Given the description of an element on the screen output the (x, y) to click on. 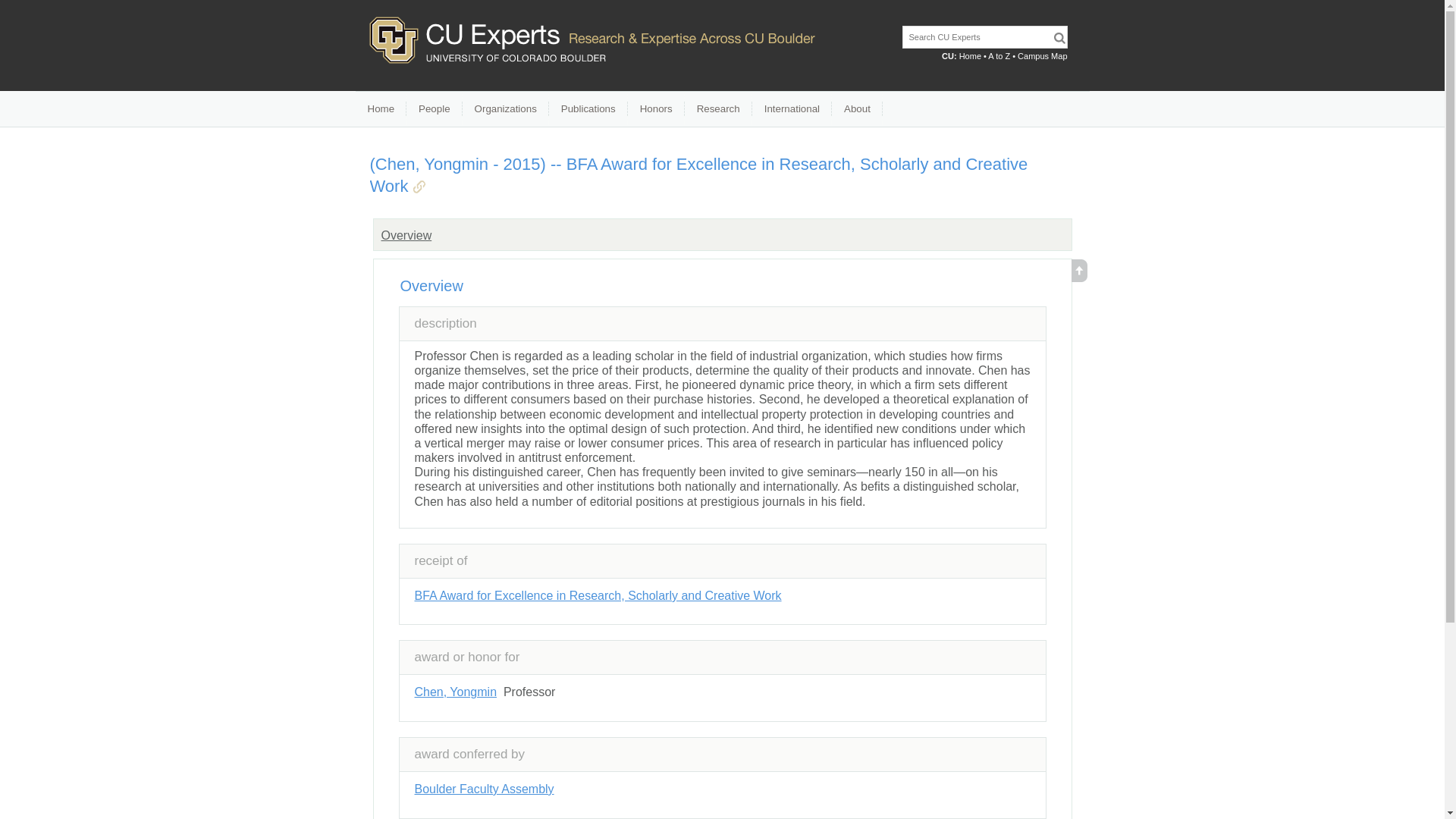
Home (380, 108)
group name (405, 235)
menu item (505, 108)
menu item (434, 108)
name (483, 788)
People (434, 108)
menu item (587, 108)
Campus Map (1042, 55)
Search (1059, 37)
Honors (655, 108)
Search (1059, 37)
Research (718, 108)
menu item (380, 108)
Publications (587, 108)
